Given the description of an element on the screen output the (x, y) to click on. 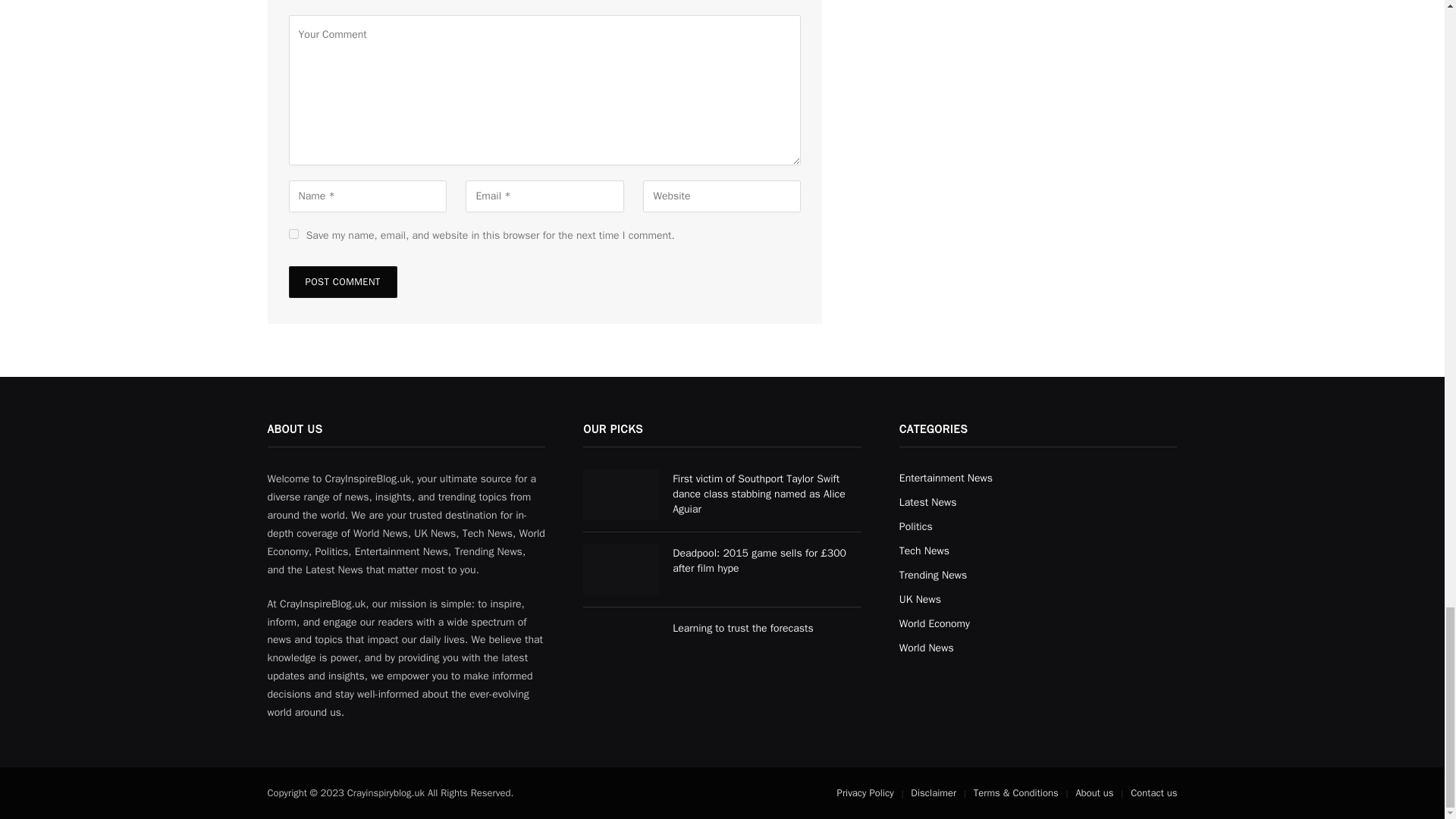
yes (293, 234)
Post Comment (342, 282)
